Given the description of an element on the screen output the (x, y) to click on. 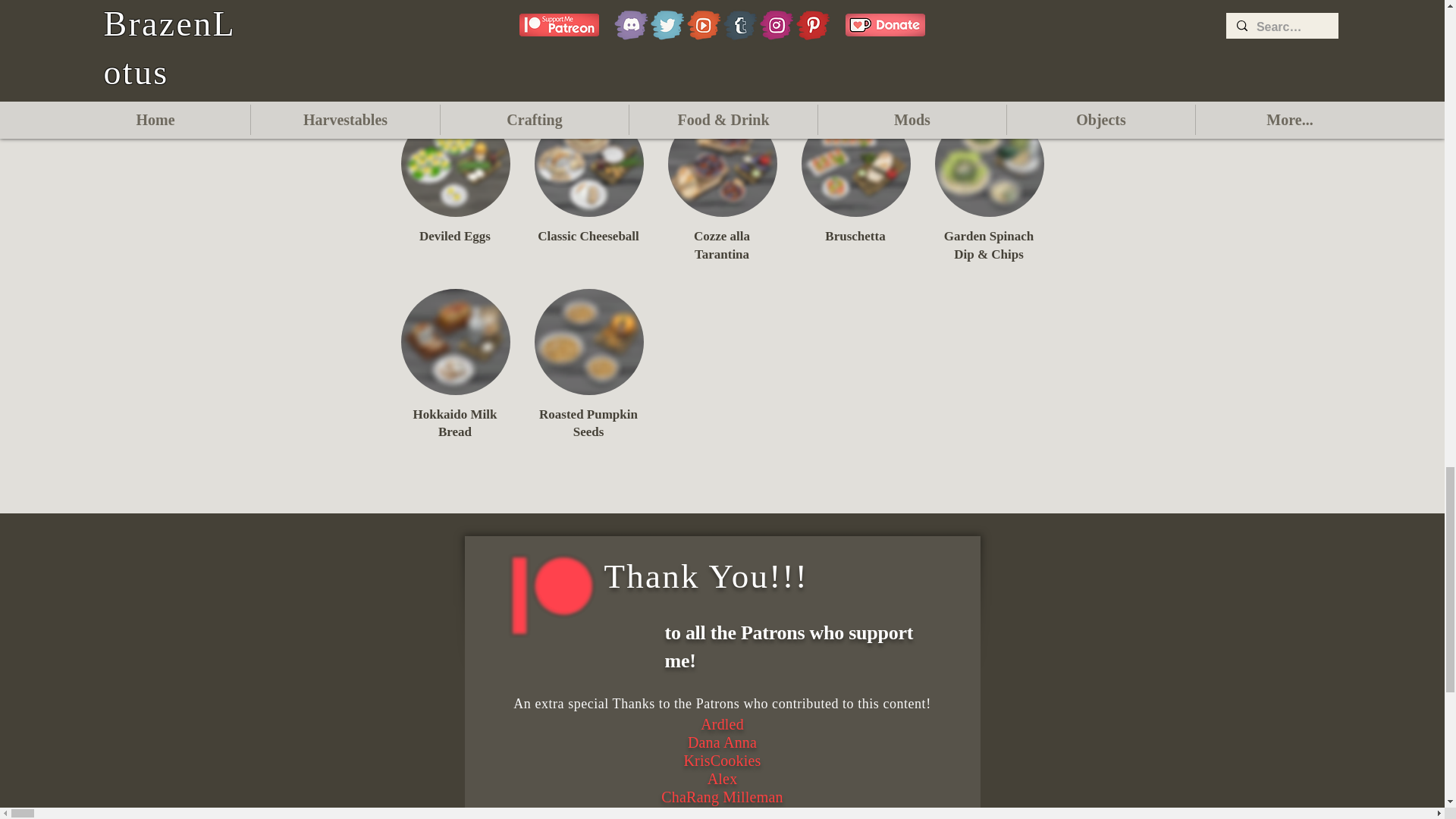
cooking recipe deviled eggs.png (454, 163)
hokkaido milk bread.png (454, 341)
Bruschetta.png (855, 163)
Roasted Pumpkin Seeds.png (588, 341)
Cozza alla Tarantina.png (721, 163)
classic cheeseball.png (588, 163)
